Given the description of an element on the screen output the (x, y) to click on. 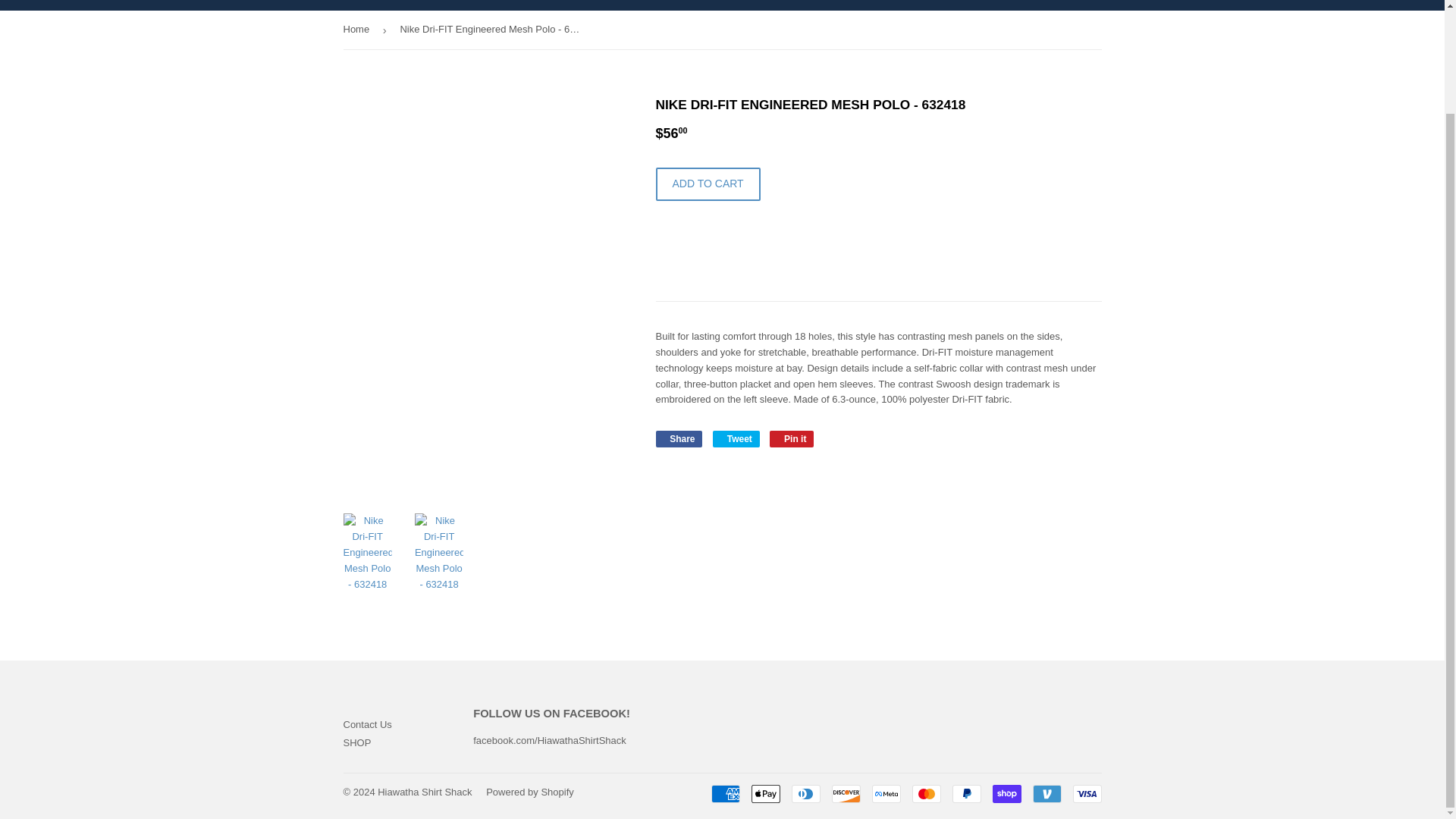
Tweet on Twitter (736, 438)
Meta Pay (886, 793)
Shop Pay (1005, 793)
Venmo (1046, 793)
PayPal (966, 793)
Diners Club (806, 793)
Discover (845, 793)
HOME (359, 5)
Visa (1085, 793)
SERVICES (426, 5)
Mastercard (925, 793)
SHOP (494, 5)
American Express (725, 793)
Apple Pay (764, 793)
Pin on Pinterest (791, 438)
